Given the description of an element on the screen output the (x, y) to click on. 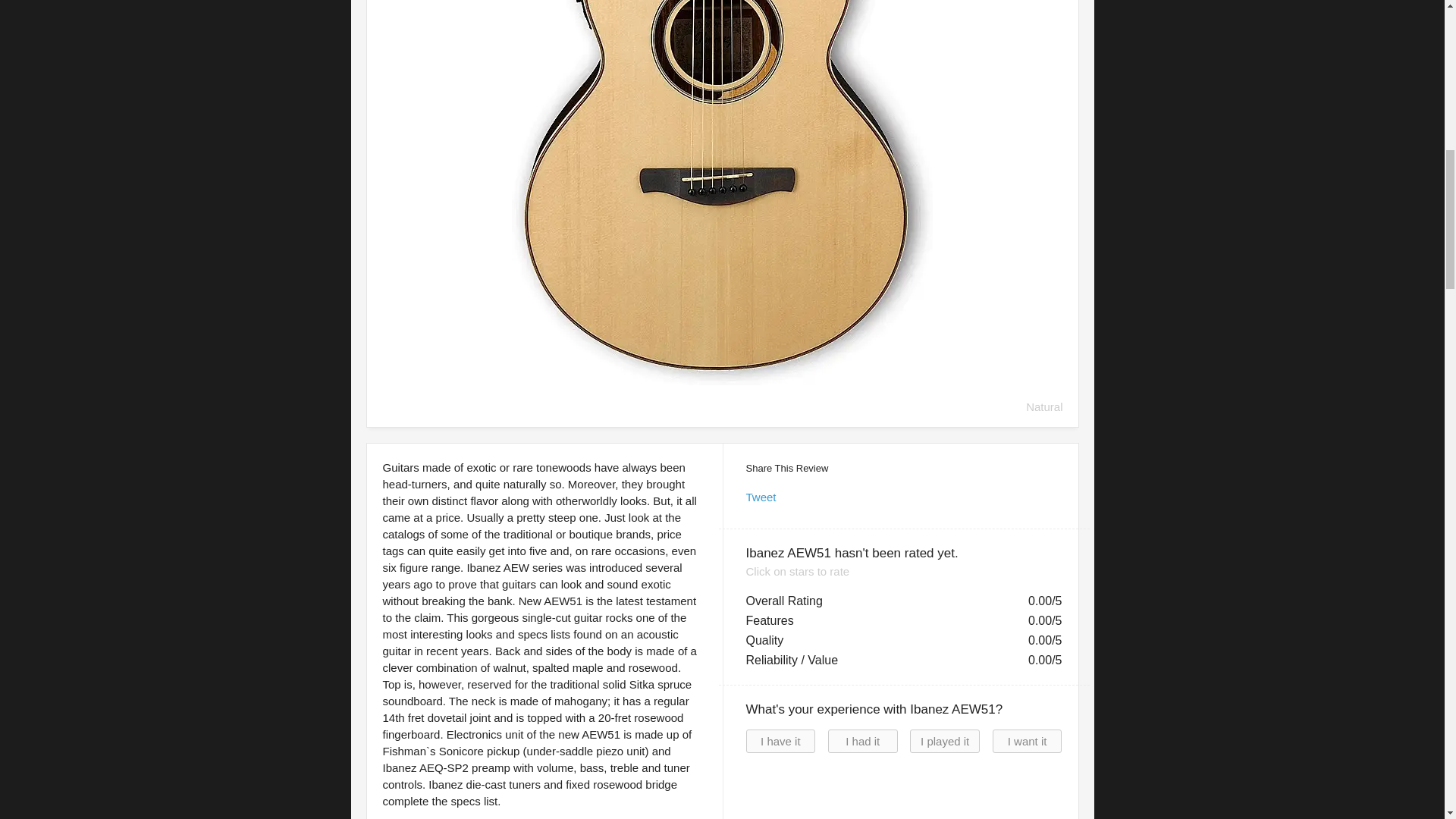
I had it (863, 740)
I want it (1027, 740)
I have it (780, 740)
I played it (944, 740)
Tweet (760, 496)
